Given the description of an element on the screen output the (x, y) to click on. 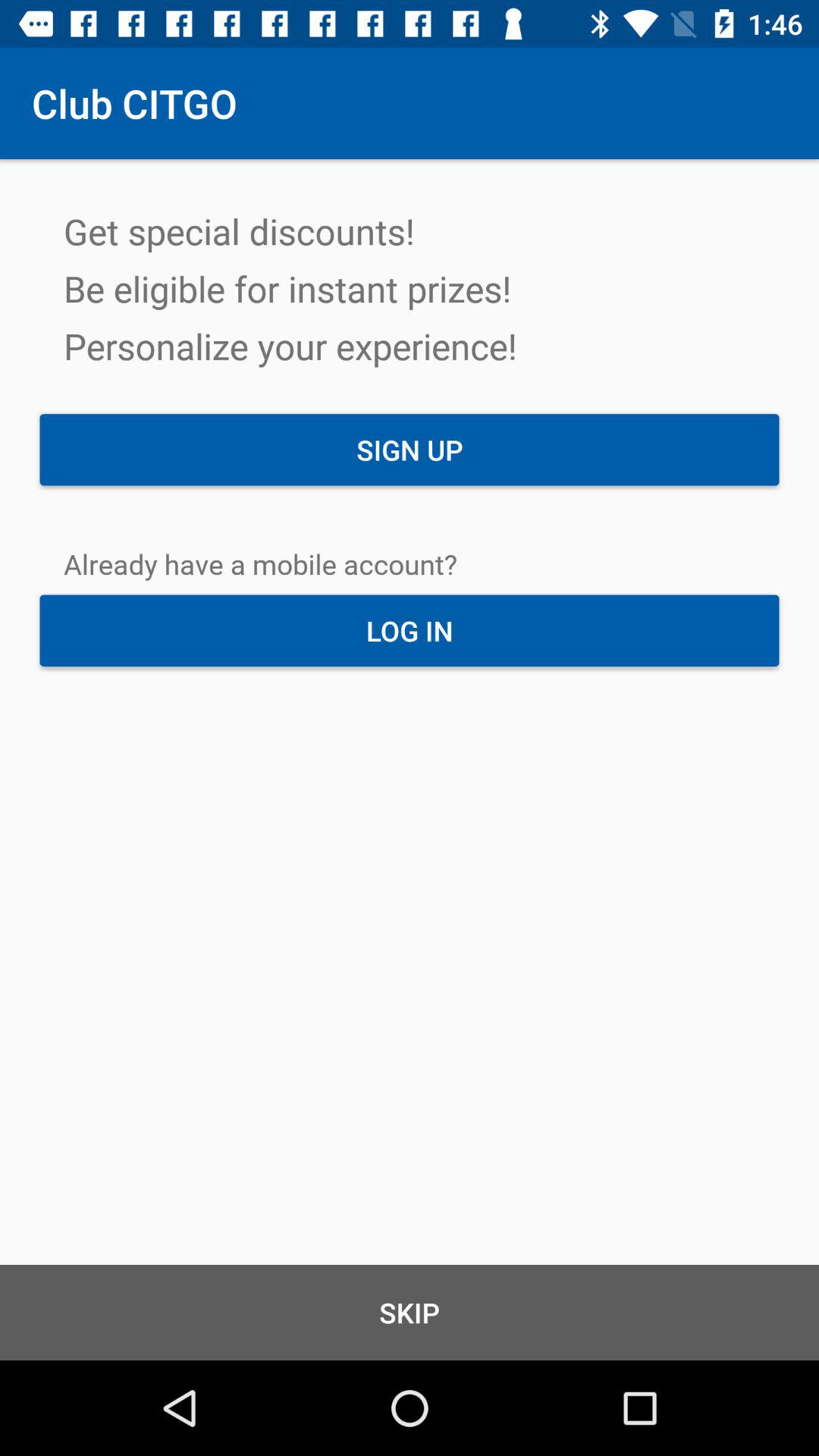
open the icon below get special discounts item (409, 449)
